Given the description of an element on the screen output the (x, y) to click on. 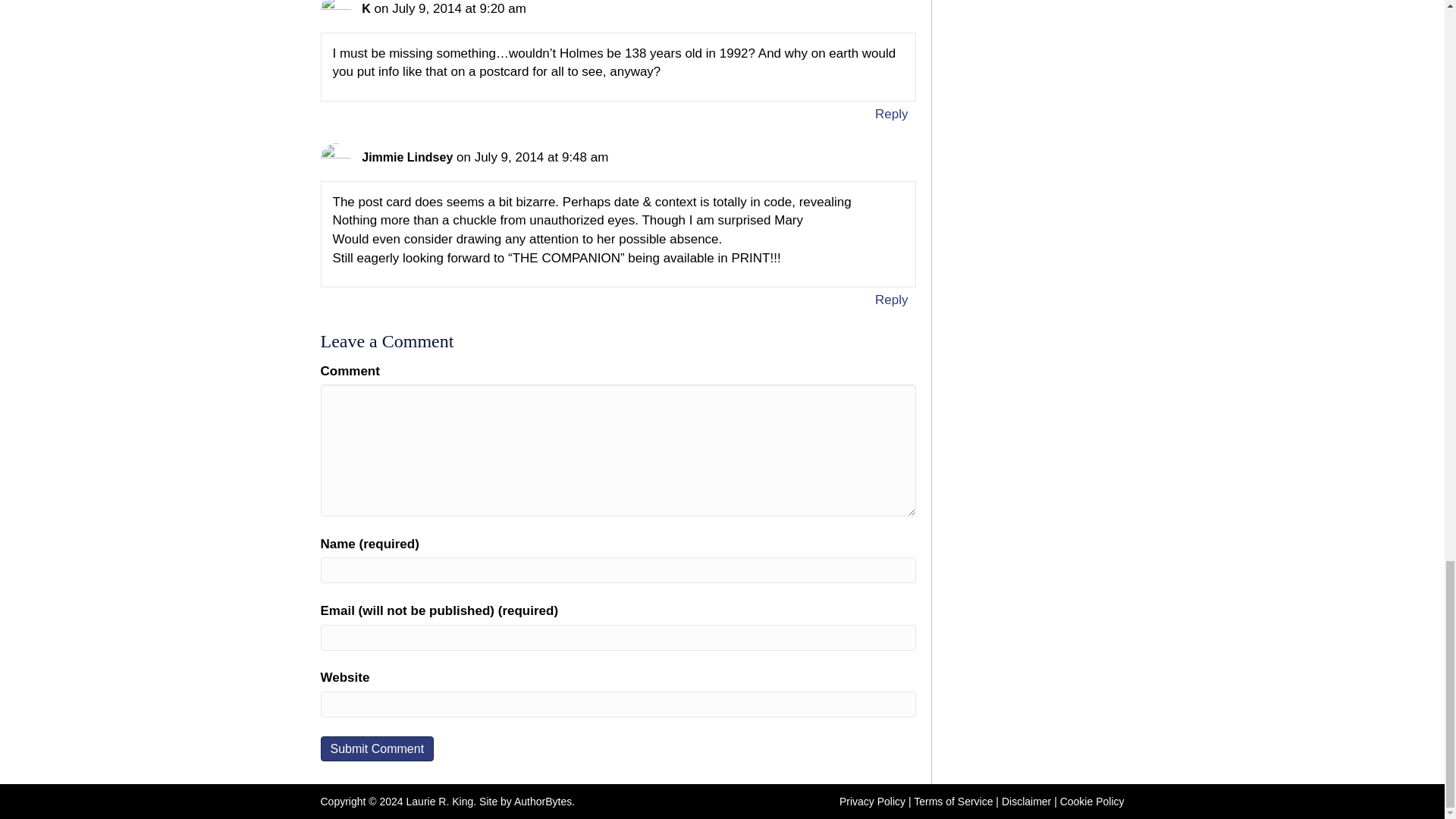
Submit Comment (376, 748)
